Given the description of an element on the screen output the (x, y) to click on. 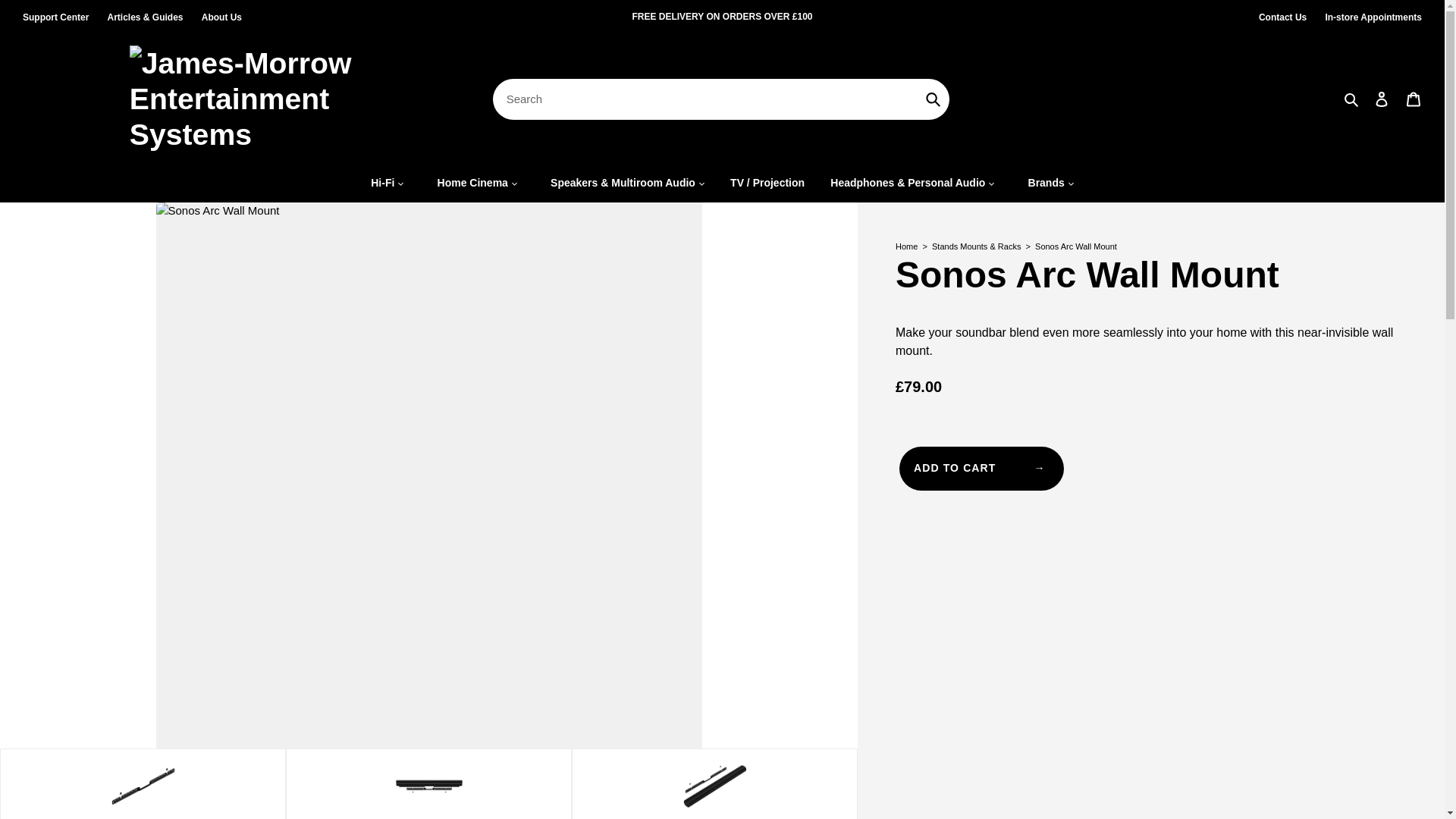
Contact Us (1282, 17)
Search (1352, 98)
In-store Appointments (1373, 17)
Hi-Fi (387, 182)
Log in (1381, 98)
Support Center (55, 17)
Cart (1413, 98)
About Us (220, 17)
